Given the description of an element on the screen output the (x, y) to click on. 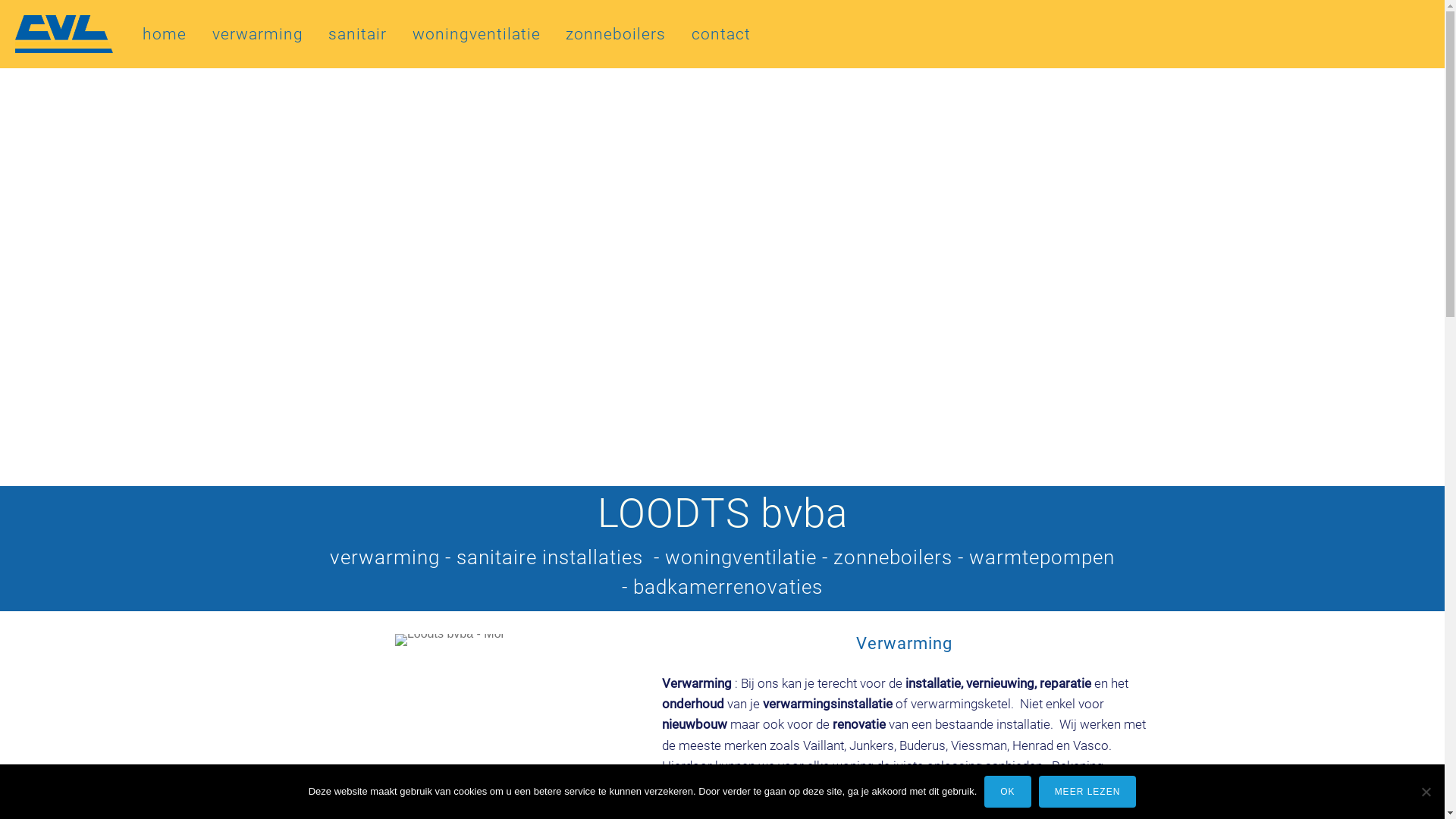
woningventilatie Element type: text (476, 34)
home Element type: text (164, 34)
OK Element type: text (1007, 791)
verwarming Element type: text (257, 34)
Nee Element type: hover (1425, 791)
zonneboilers Element type: text (615, 34)
contact Element type: text (721, 34)
MEER LEZEN Element type: text (1087, 791)
sanitair Element type: text (357, 34)
